Given the description of an element on the screen output the (x, y) to click on. 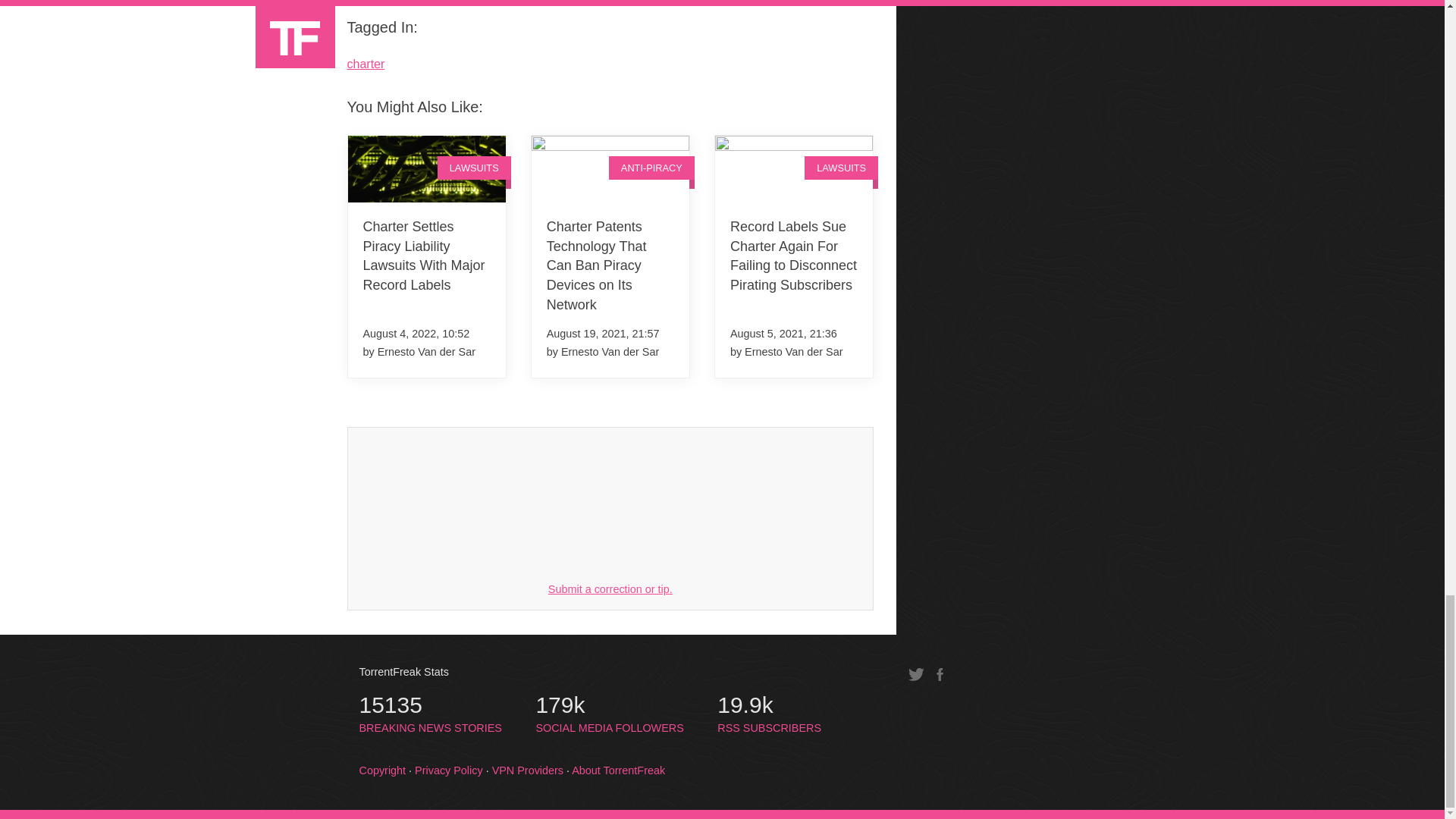
Submit a correction or tip. (608, 714)
Copyright (769, 714)
charter (610, 589)
